Given the description of an element on the screen output the (x, y) to click on. 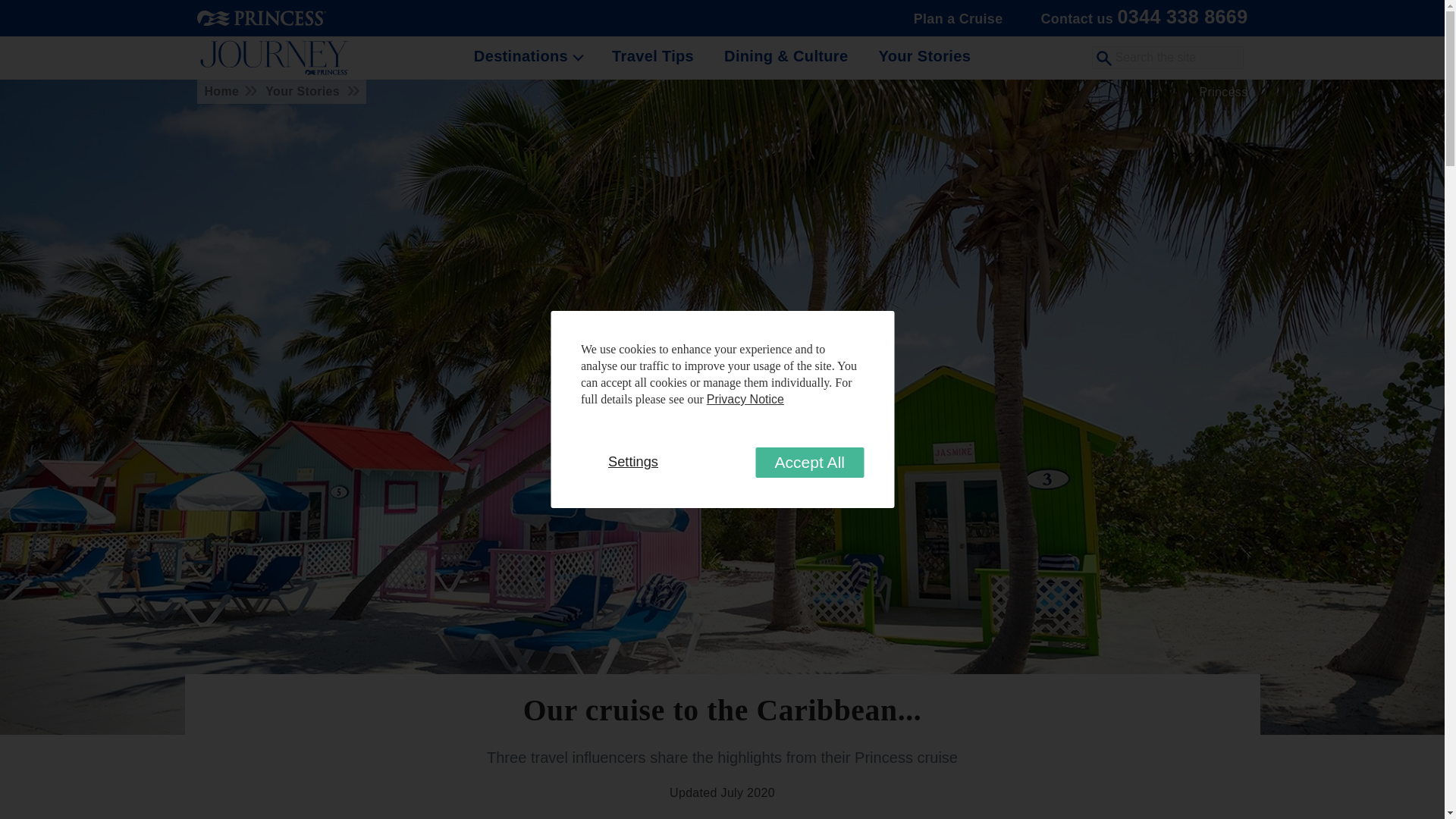
Your Stories (307, 91)
Contact us 0344 338 8669 (1139, 18)
Privacy Notice (745, 399)
Accept All (809, 462)
Travel Tips (652, 55)
Accept All (809, 462)
Destinations (524, 55)
Your Stories (924, 55)
Settings (633, 461)
Plan a Cruise (957, 18)
Settings (633, 461)
Home (227, 91)
